Given the description of an element on the screen output the (x, y) to click on. 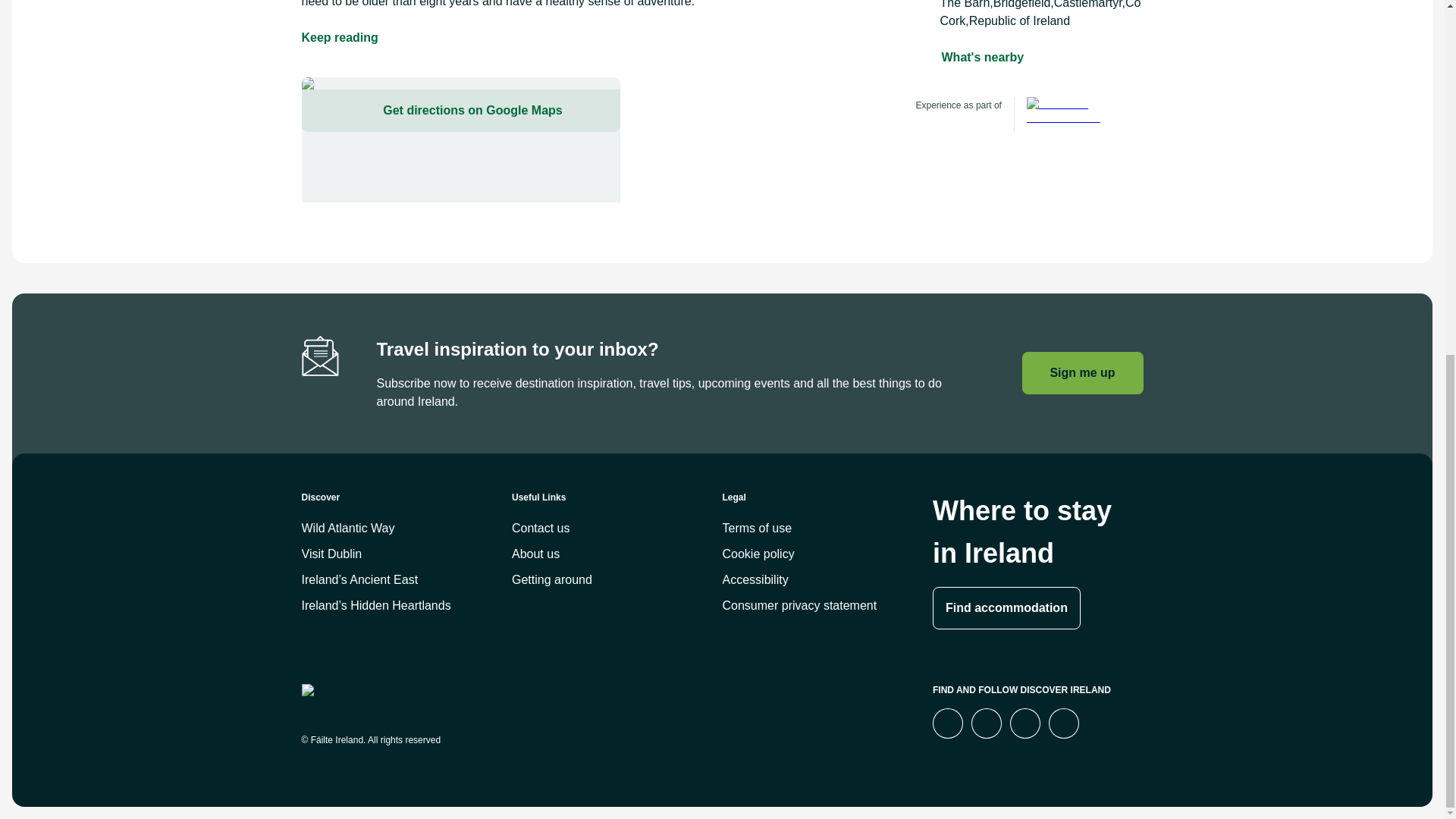
Discover (406, 503)
Keep reading (339, 37)
Get directions on Google Maps (460, 139)
Sign me up (1082, 372)
What's nearby (983, 57)
Get directions on Google Maps (460, 110)
Ireland's Ancient East (1070, 114)
